Given the description of an element on the screen output the (x, y) to click on. 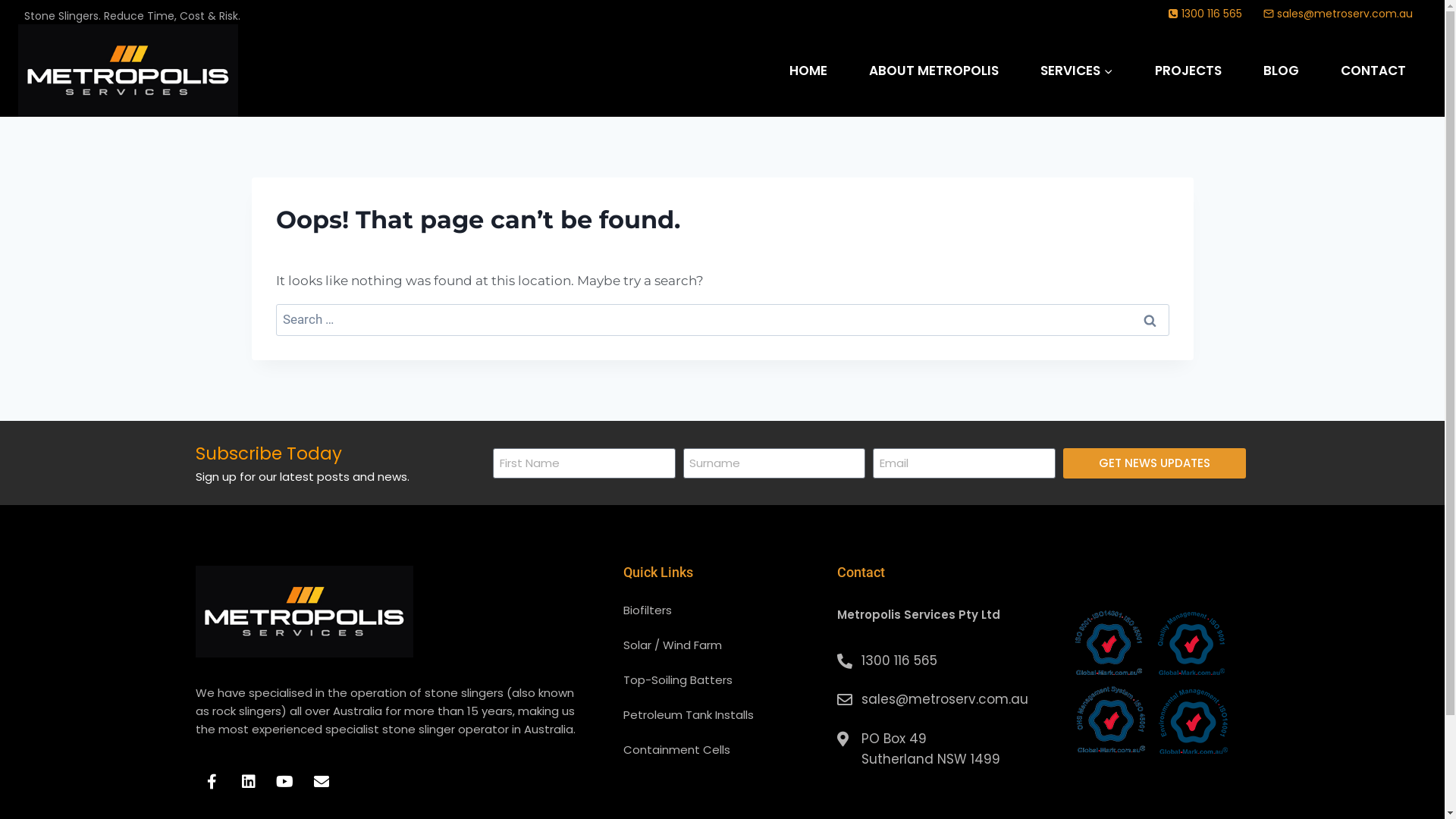
CONTACT Element type: text (1372, 71)
Petroleum Tank Installs Element type: text (722, 714)
HOME Element type: text (807, 71)
Containment Cells Element type: text (722, 749)
Search Element type: text (1150, 320)
sales@metroserv.com.au Element type: text (1337, 13)
PROJECTS Element type: text (1187, 71)
SERVICES Element type: text (1076, 71)
Biofilters Element type: text (722, 609)
1300 116 565 Element type: text (1204, 13)
1300 116 565 Element type: text (936, 660)
GET NEWS UPDATES Element type: text (1154, 463)
ABOUT METROPOLIS Element type: text (933, 71)
Top-Soiling Batters Element type: text (722, 679)
BLOG Element type: text (1280, 71)
sales@metroserv.com.au Element type: text (936, 699)
Solar / Wind Farm Element type: text (722, 644)
